Given the description of an element on the screen output the (x, y) to click on. 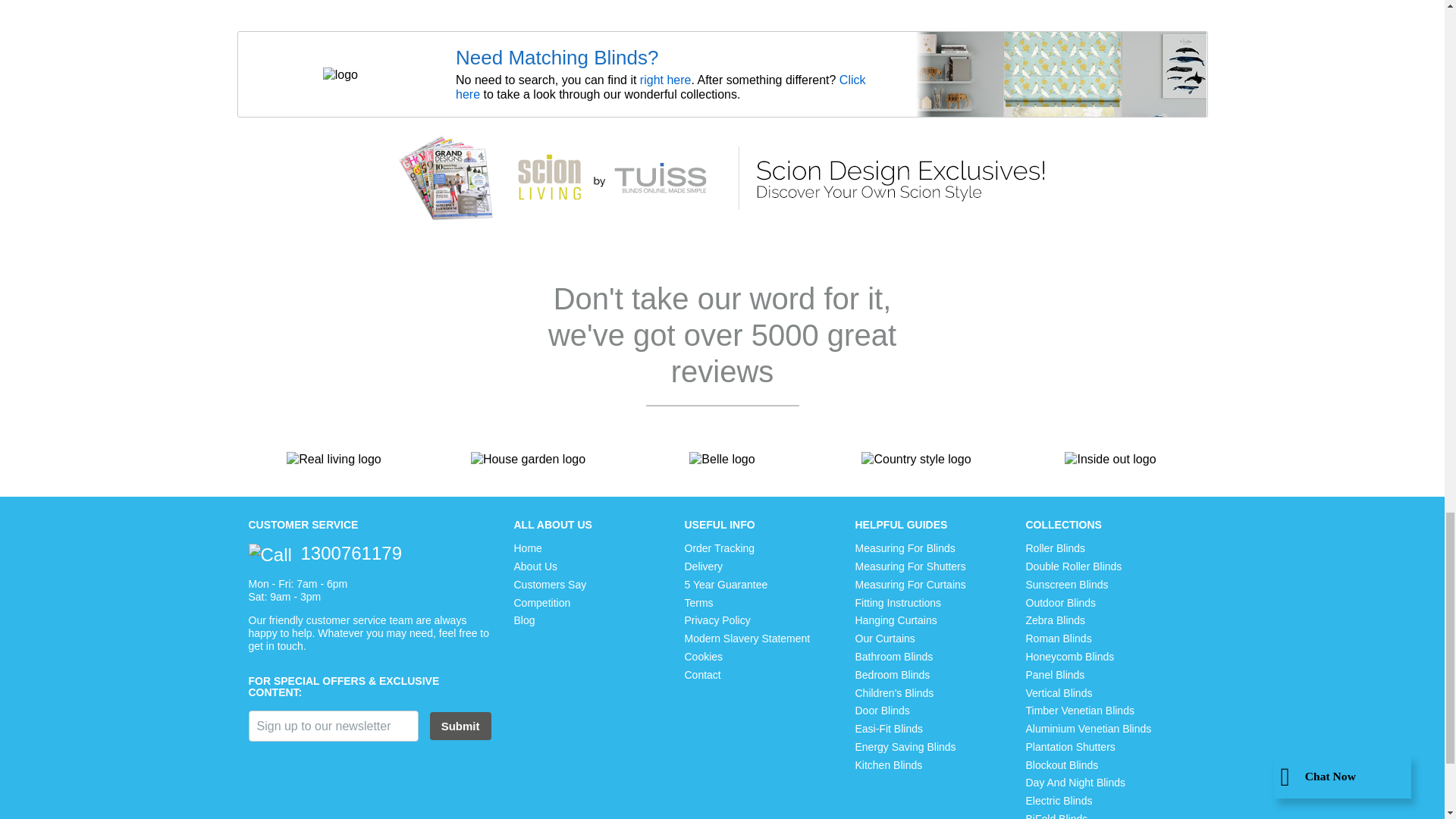
Submit (460, 725)
